Given the description of an element on the screen output the (x, y) to click on. 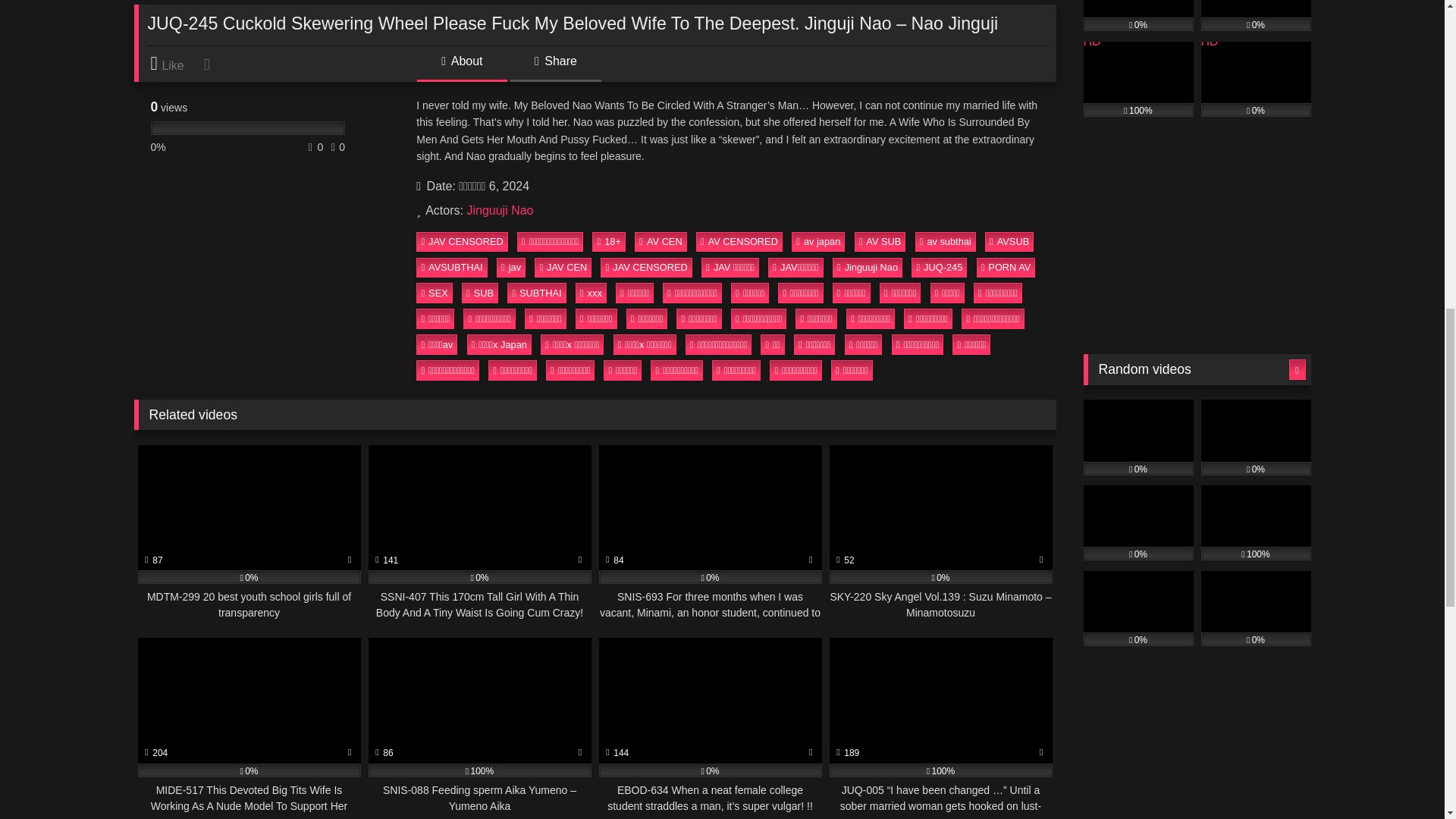
Jinguuji Nao (498, 210)
AV SUB (879, 241)
av japan (818, 241)
AV CEN (660, 241)
Jinguuji Nao (498, 210)
JUQ-245 (938, 267)
Share (556, 66)
AVSUBTHAI (451, 267)
About (461, 66)
av japan (818, 241)
Like (174, 63)
av subthai (945, 241)
Jinguuji Nao (867, 267)
AV SUB (879, 241)
SUB (479, 292)
